Given the description of an element on the screen output the (x, y) to click on. 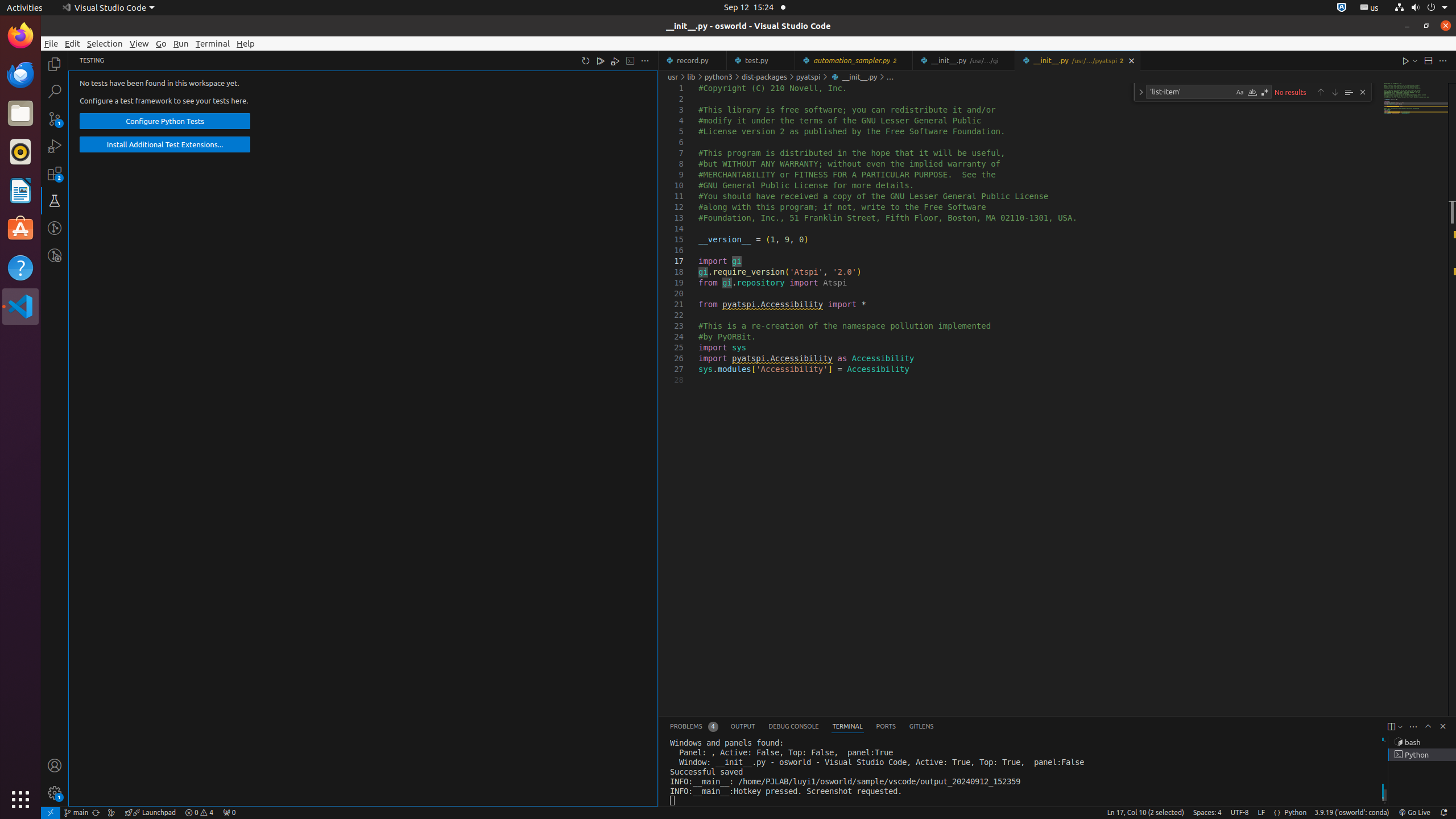
No Ports Forwarded Element type: push-button (228, 812)
Views and More Actions... Element type: push-button (1413, 726)
Find in Selection (Alt+L) Element type: check-box (1348, 91)
Go Element type: push-button (161, 43)
